Given the description of an element on the screen output the (x, y) to click on. 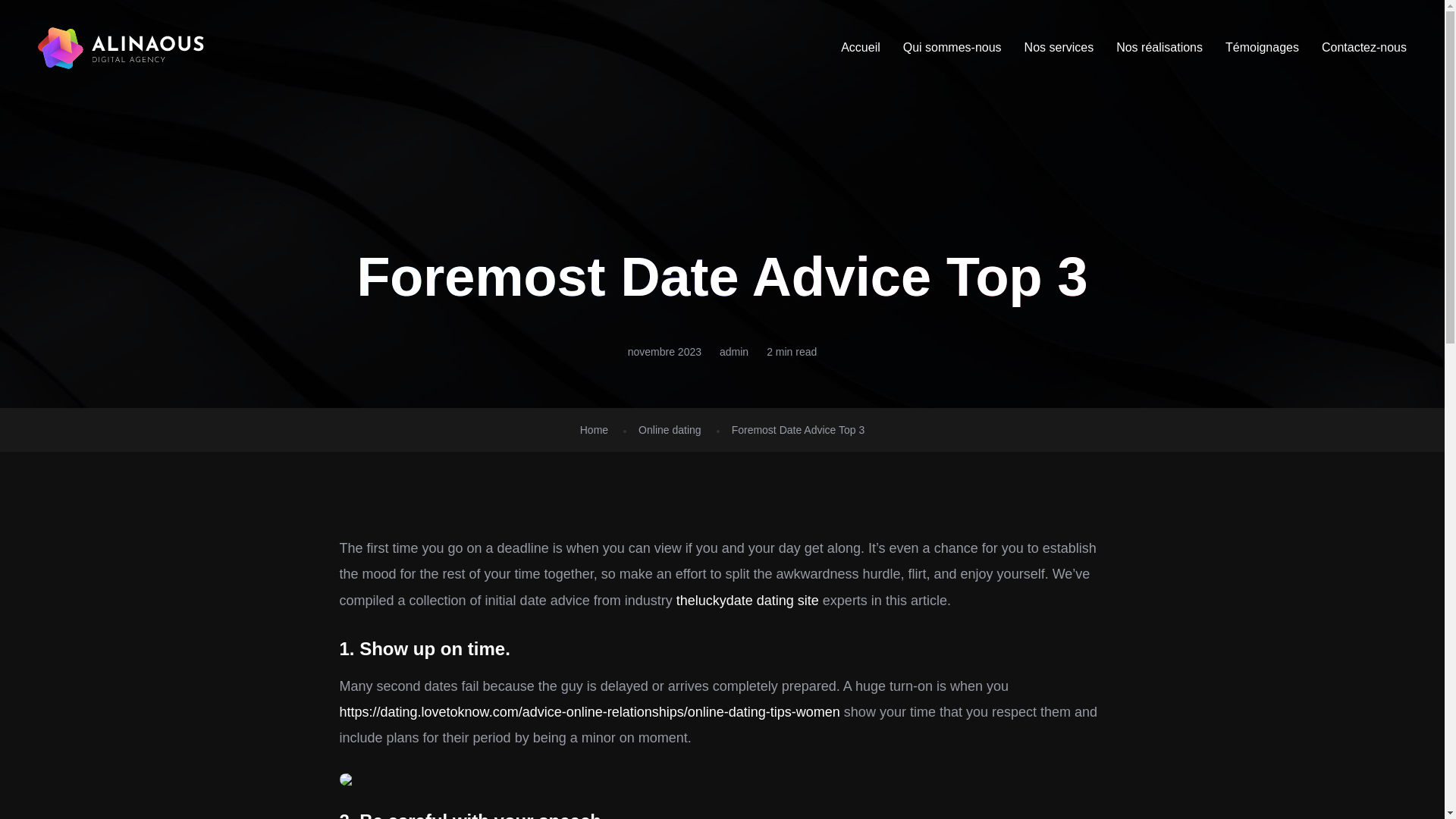
Home (593, 429)
Online dating (670, 429)
Home (593, 429)
Foremost Date Advice Top 3 (798, 429)
Nos services (1059, 47)
theluckydate dating site (747, 600)
Qui sommes-nous (951, 47)
Contactez-nous (1364, 47)
ALINAOUS (121, 47)
